Given the description of an element on the screen output the (x, y) to click on. 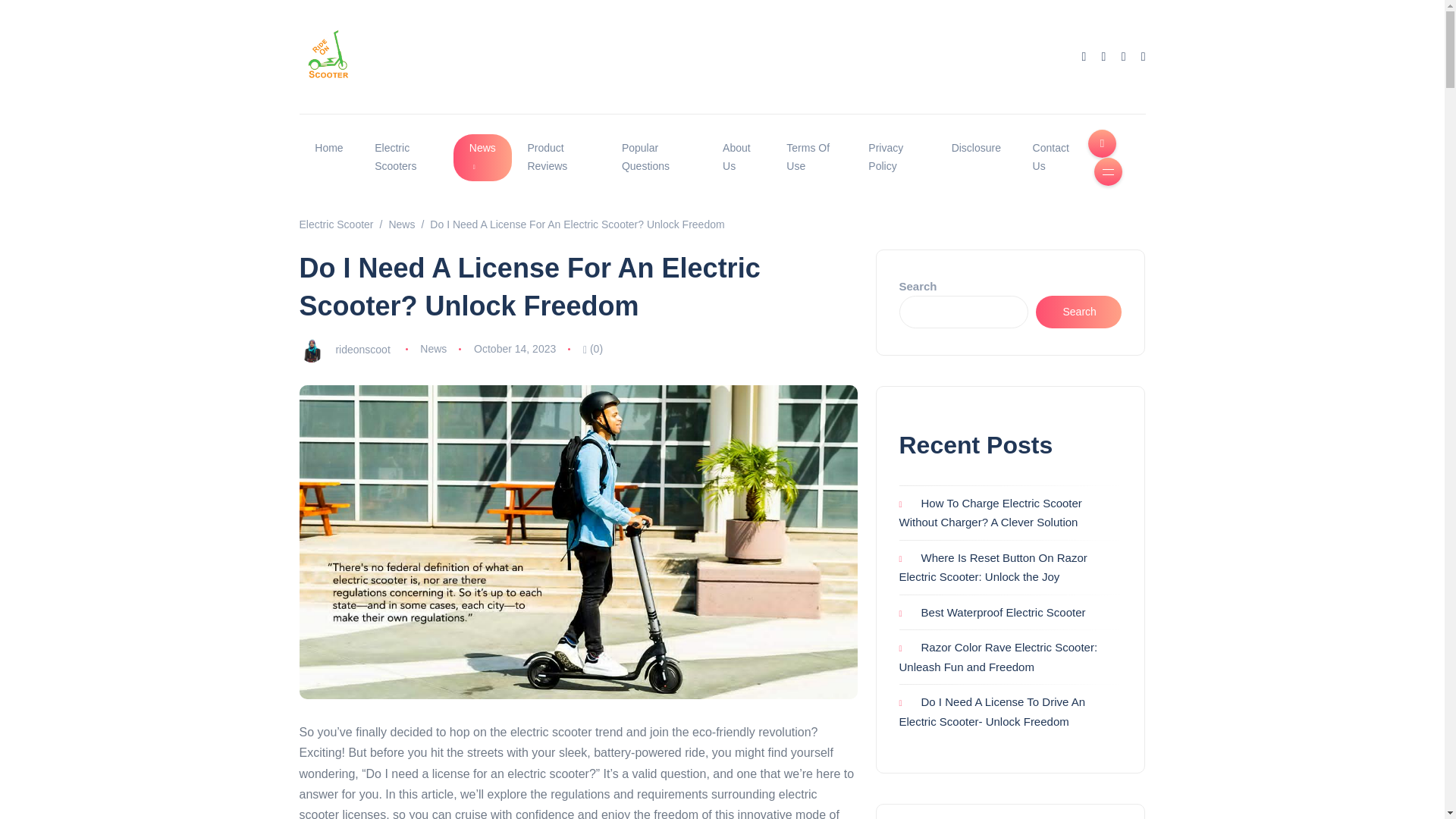
News (482, 157)
Home (328, 148)
Electric Scooters (405, 157)
Product Reviews (559, 157)
Go to the News Category archives. (401, 224)
Posts by rideonscoot (362, 348)
Go to Electric Scooter. (335, 224)
